Given the description of an element on the screen output the (x, y) to click on. 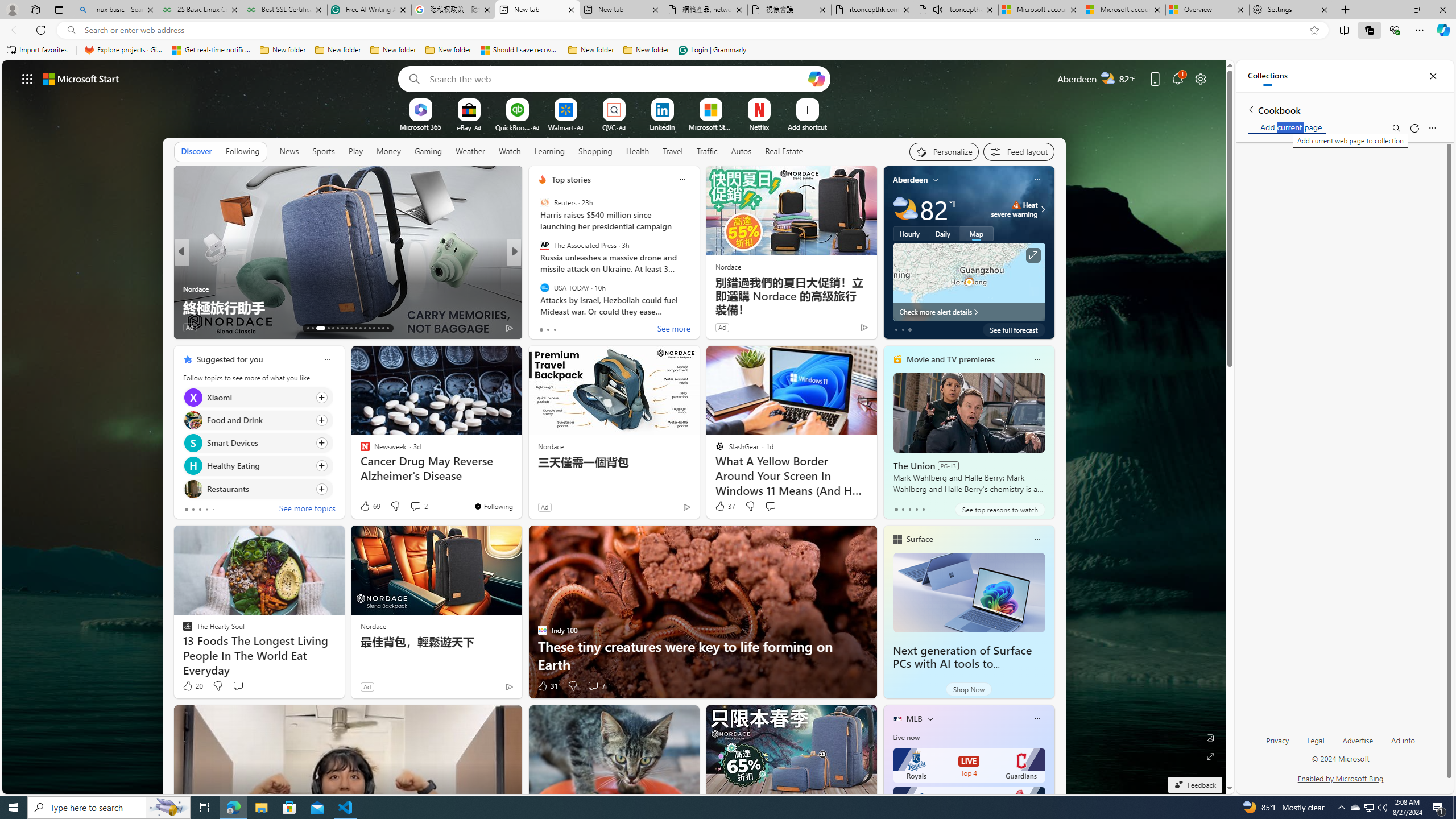
The Associated Press (544, 245)
31 Like (546, 685)
Search icon (70, 29)
37 Like (724, 505)
AutomationID: tab-28 (382, 328)
IT Concept (549, 288)
MLB (914, 718)
AutomationID: tab-26 (374, 328)
